Given the description of an element on the screen output the (x, y) to click on. 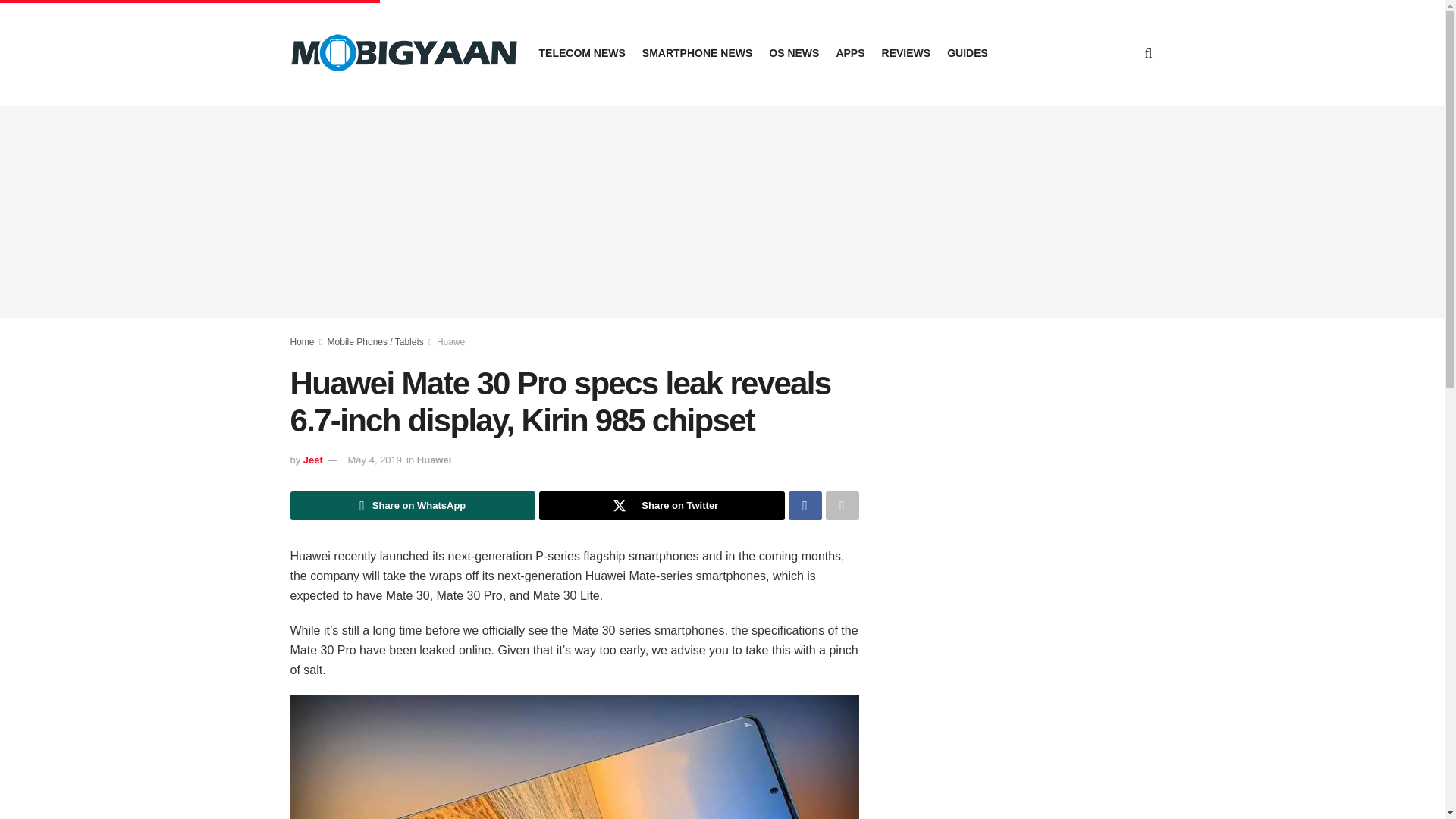
Home (301, 341)
SMARTPHONE NEWS (697, 52)
Jeet (312, 460)
Share on Twitter (661, 505)
Share on WhatsApp (412, 505)
REVIEWS (906, 52)
Huawei (433, 460)
TELECOM NEWS (581, 52)
May 4, 2019 (375, 460)
Huawei (451, 341)
GUIDES (967, 52)
OS NEWS (793, 52)
APPS (849, 52)
